Given the description of an element on the screen output the (x, y) to click on. 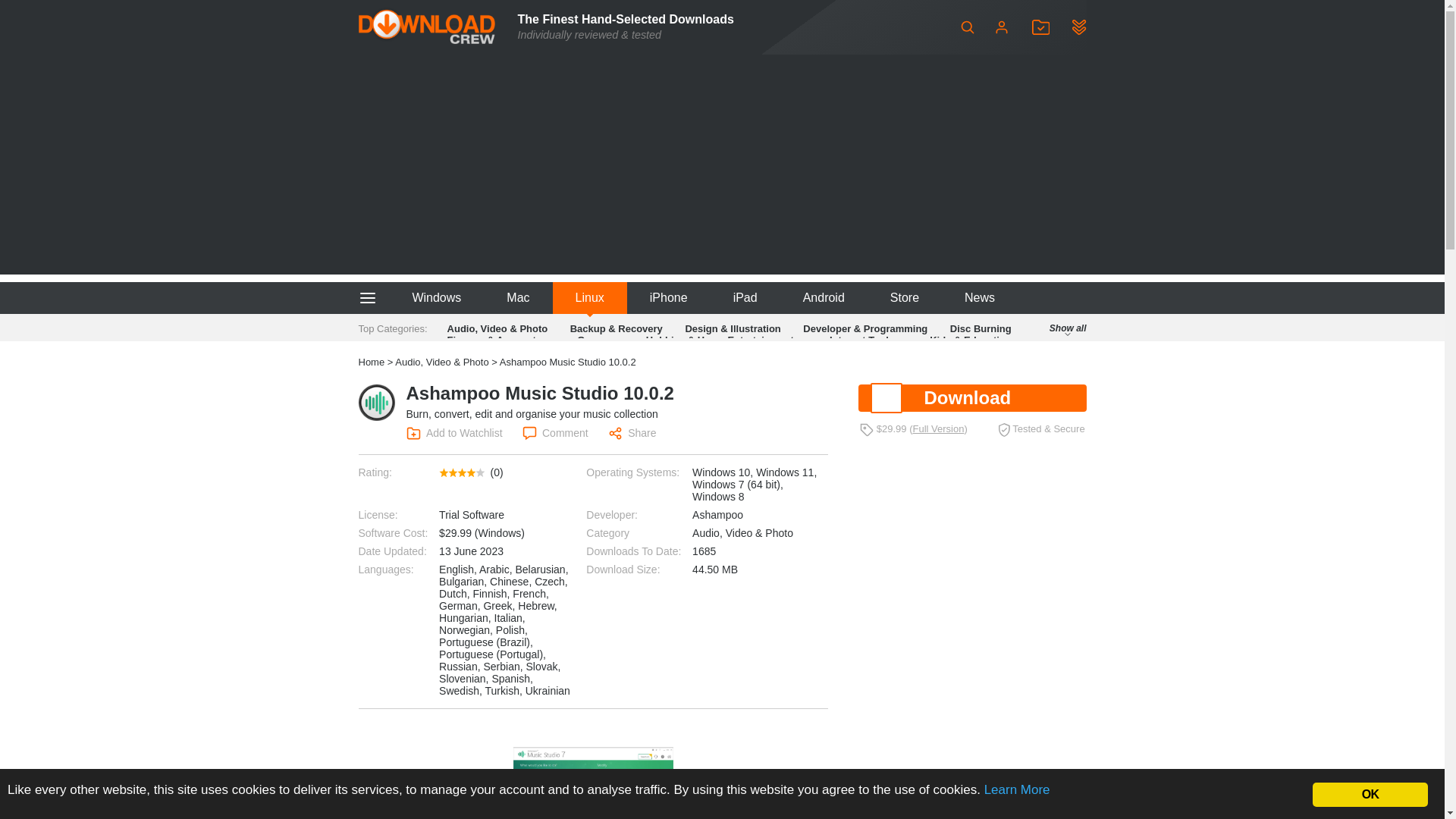
Disc Burning (980, 328)
Downloadcrew - Home (426, 26)
Games (593, 339)
iPad (745, 297)
iPhone (668, 297)
Internet Tools (861, 339)
Linux (590, 297)
Android (823, 297)
Mac (517, 297)
Windows (435, 297)
